Given the description of an element on the screen output the (x, y) to click on. 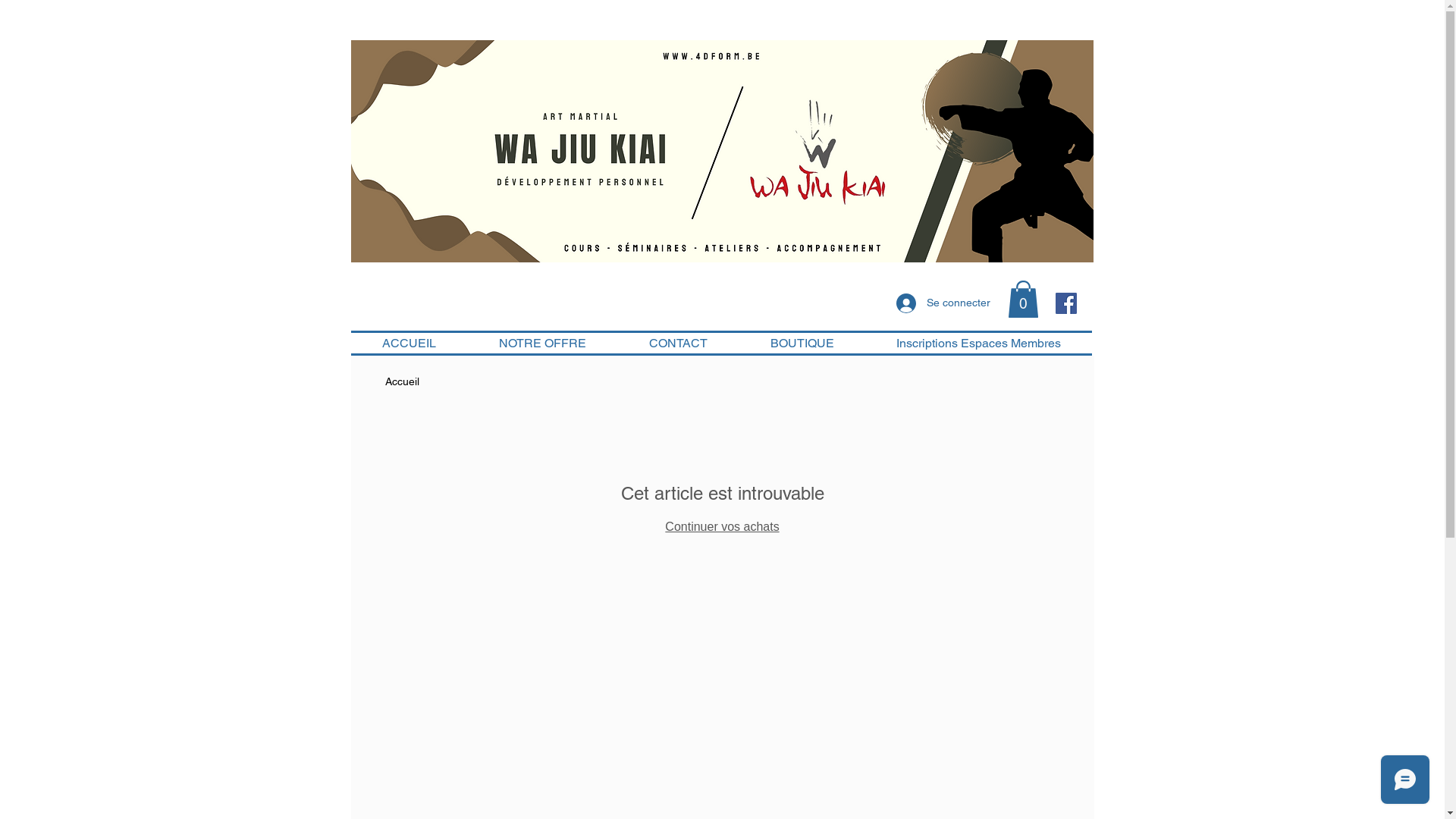
NOTRE OFFRE Element type: text (542, 342)
0 Element type: text (1022, 298)
Inscriptions Espaces Membres Element type: text (977, 342)
Se connecter Element type: text (943, 302)
BOUTIQUE Element type: text (801, 342)
CONTACT Element type: text (677, 342)
Continuer vos achats Element type: text (721, 526)
ACCUEIL Element type: text (408, 342)
Accueil Element type: text (402, 381)
